Given the description of an element on the screen output the (x, y) to click on. 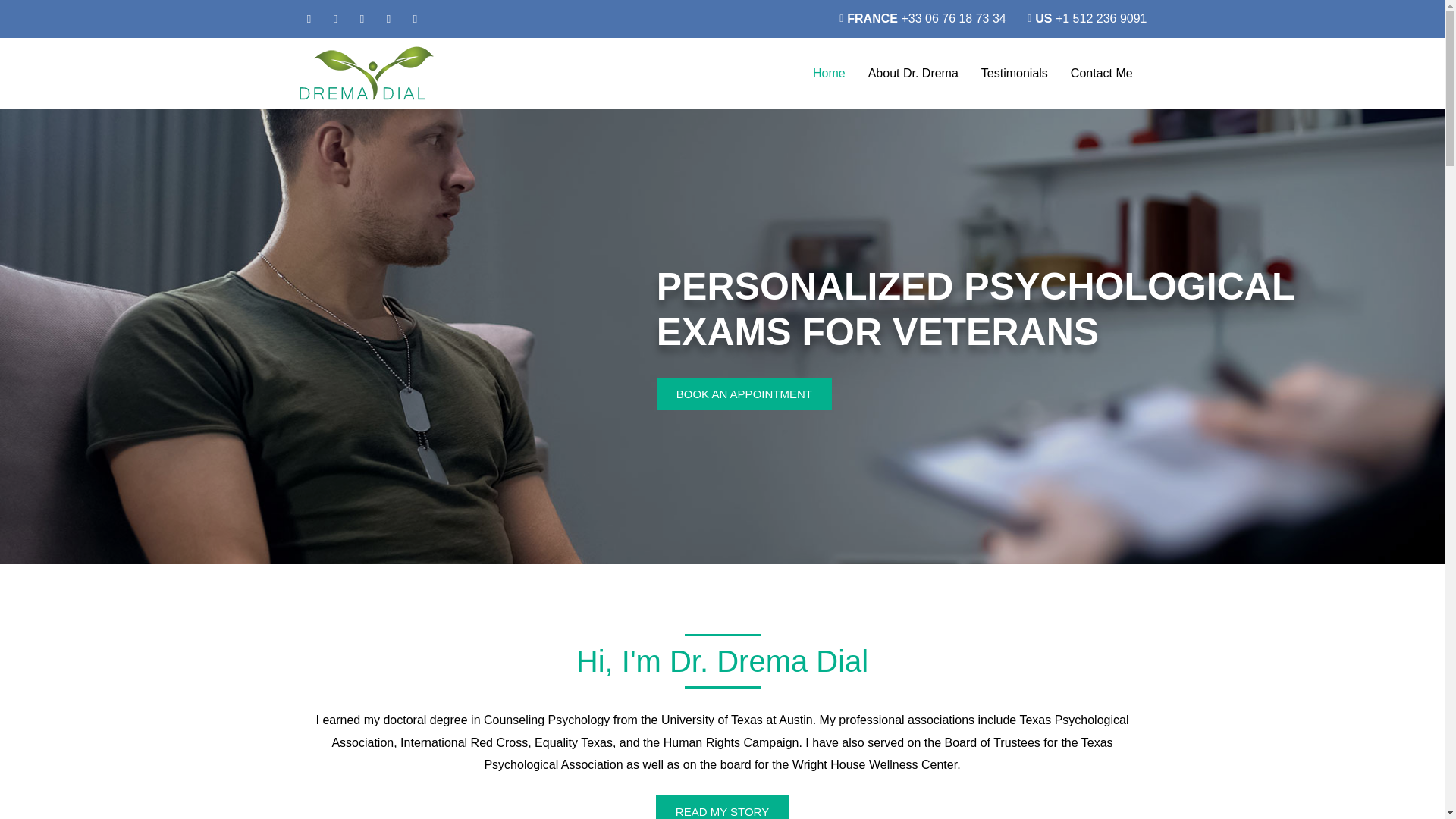
Facebook (308, 18)
Youtube (361, 18)
About Dr. Drema (913, 73)
Instagram (388, 18)
Twitter (335, 18)
Linkedin (414, 18)
Contact Me (1101, 73)
Testimonials (1014, 73)
READ MY STORY (722, 807)
BOOK AN APPOINTMENT (743, 393)
Home (829, 73)
